Given the description of an element on the screen output the (x, y) to click on. 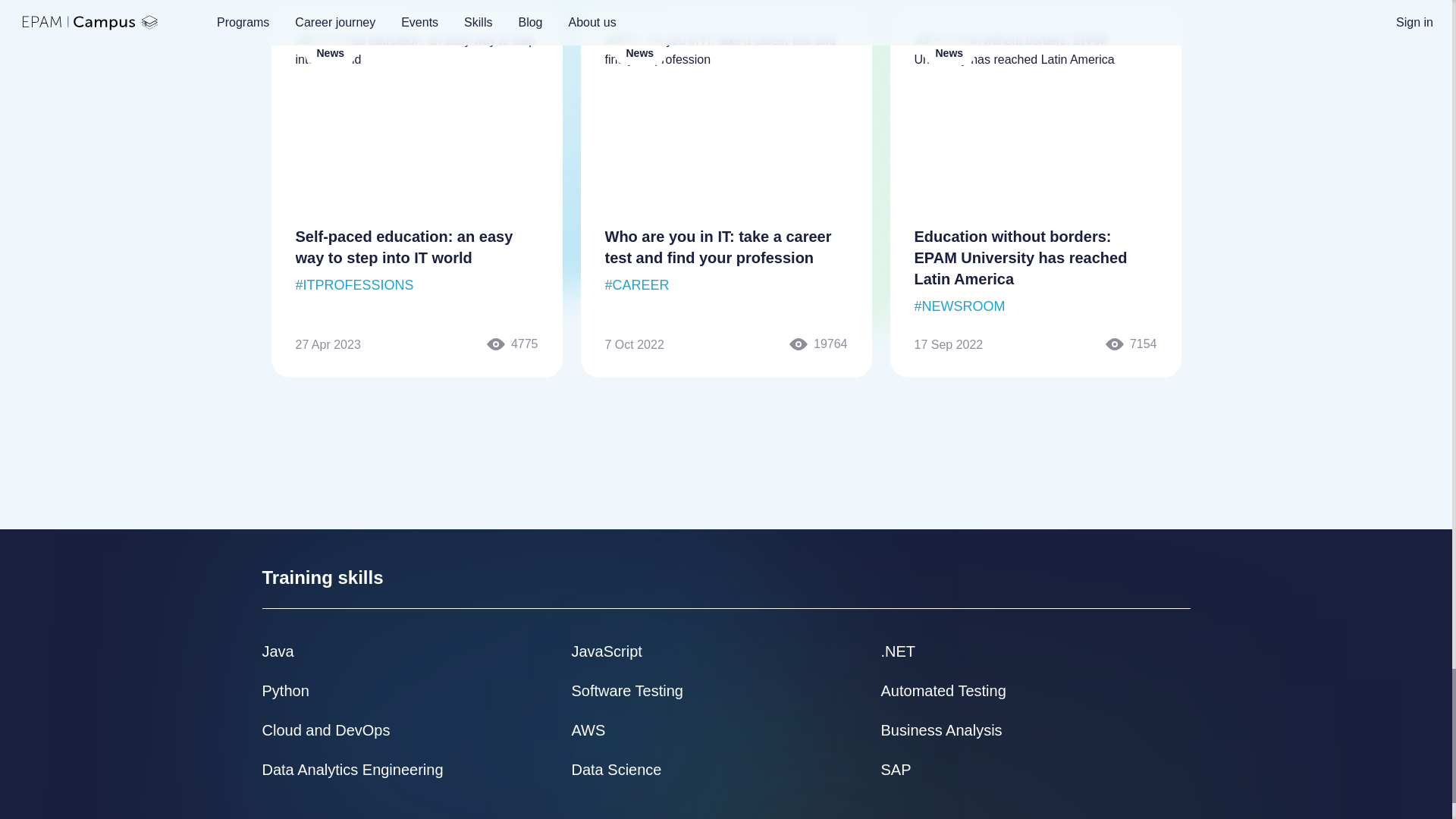
AWS (588, 729)
Cloud and DevOps (326, 729)
Data Analytics Engineering (353, 769)
JavaScript (607, 651)
Software Testing (628, 690)
Java (278, 651)
Data Science (617, 769)
Automated Testing (943, 690)
Business Analysis (941, 729)
SAP (895, 769)
.NET (897, 651)
Python (285, 690)
